Given the description of an element on the screen output the (x, y) to click on. 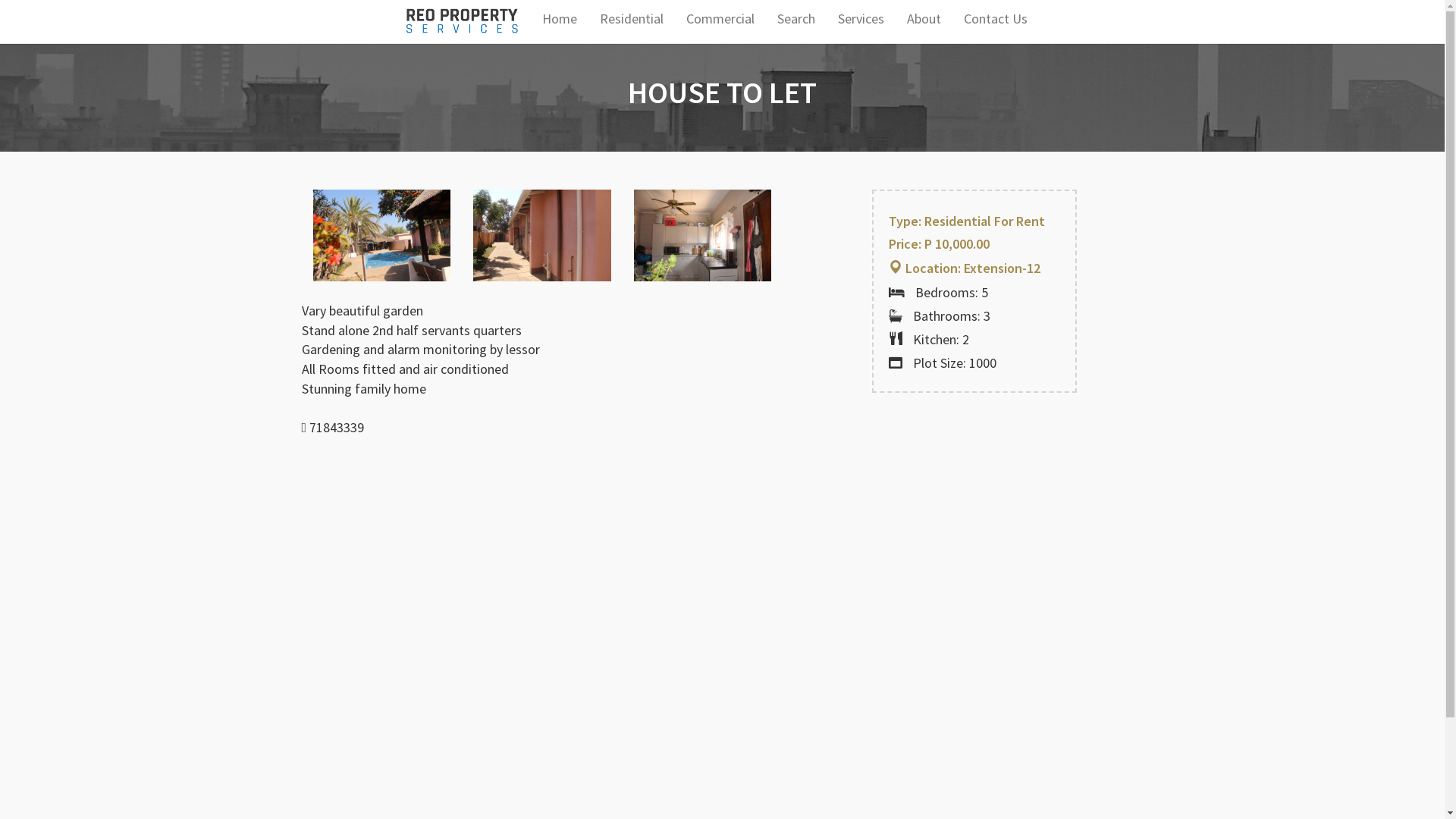
Search Element type: text (795, 18)
Commercial Element type: text (719, 18)
About Element type: text (923, 18)
Contact Us Element type: text (995, 18)
Home Element type: text (559, 18)
Services Element type: text (860, 18)
Residential Element type: text (631, 18)
